Given the description of an element on the screen output the (x, y) to click on. 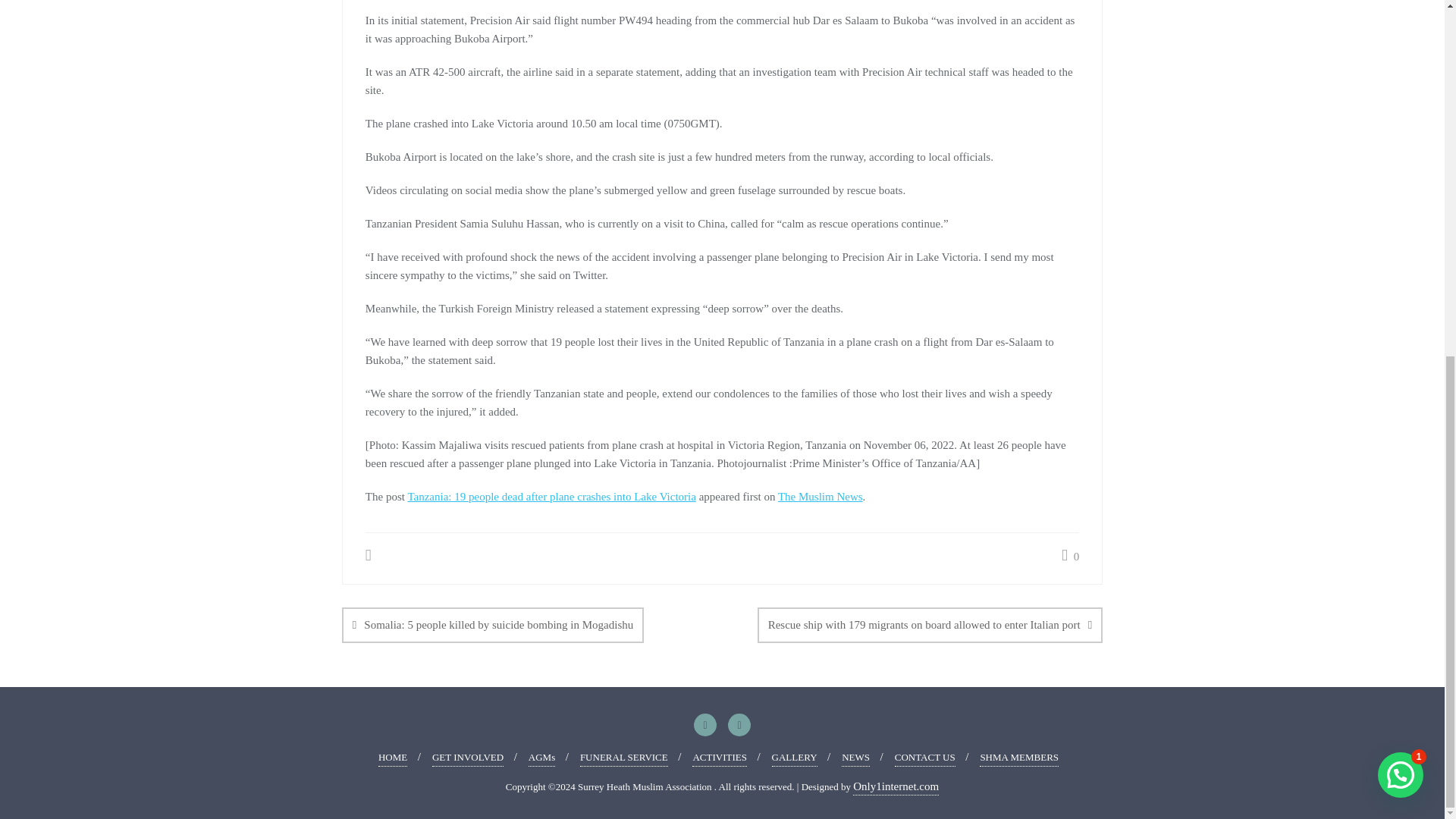
The Muslim News (820, 496)
HOME (392, 757)
ACTIVITIES (719, 757)
GET INVOLVED (467, 757)
Somalia: 5 people killed by suicide bombing in Mogadishu (492, 624)
FUNERAL SERVICE (623, 757)
AGMs (541, 757)
